Given the description of an element on the screen output the (x, y) to click on. 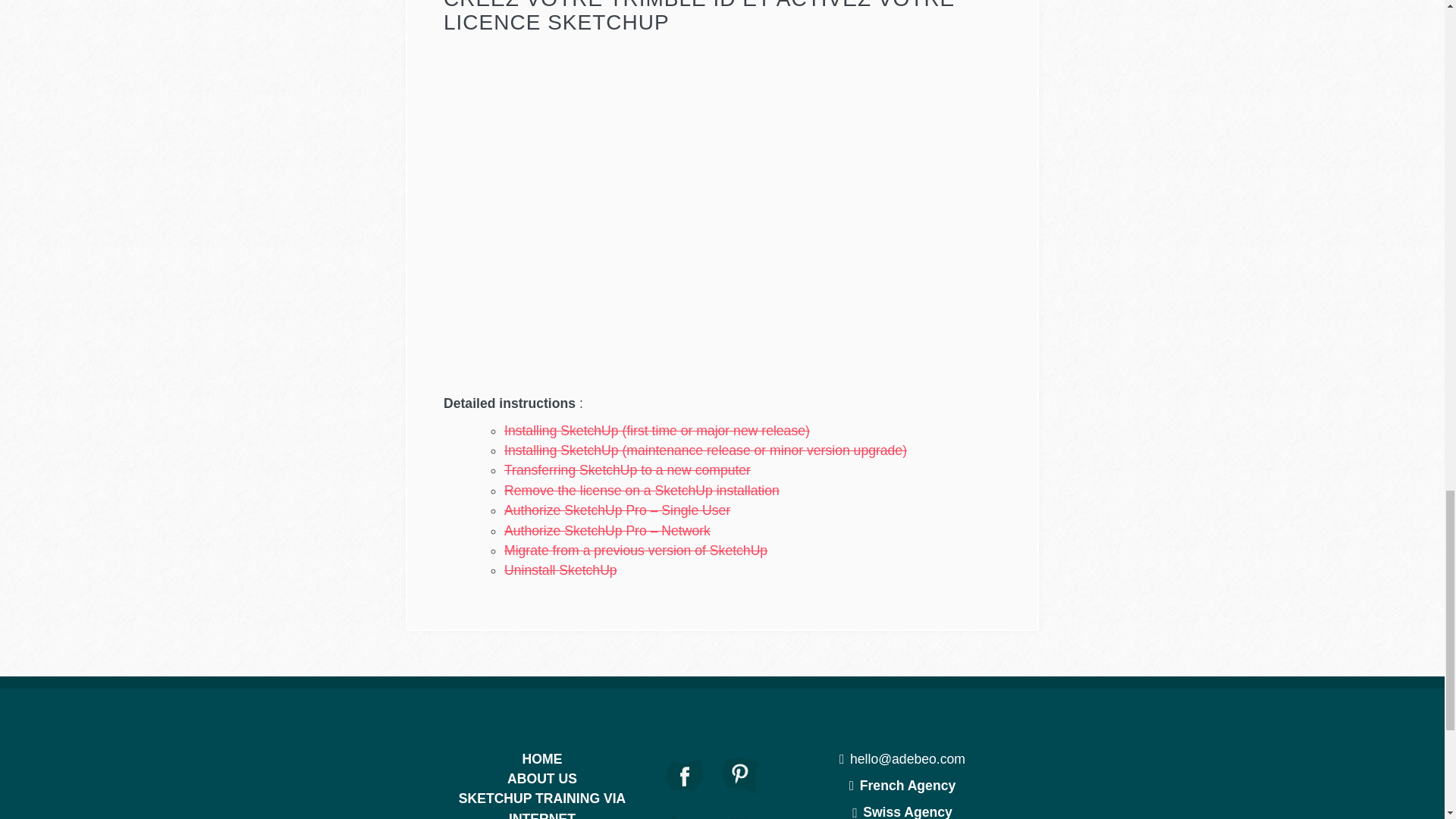
Swiss Agency (901, 811)
French Agency (901, 785)
Migrate from a previous version of SketchUp (635, 549)
HOME (542, 758)
Remove the license on a SketchUp installation (640, 490)
ABOUT US (541, 778)
Uninstall SketchUp (560, 570)
SKETCHUP TRAINING VIA INTERNET (542, 805)
Transferring SketchUp to a new computer (627, 469)
